Given the description of an element on the screen output the (x, y) to click on. 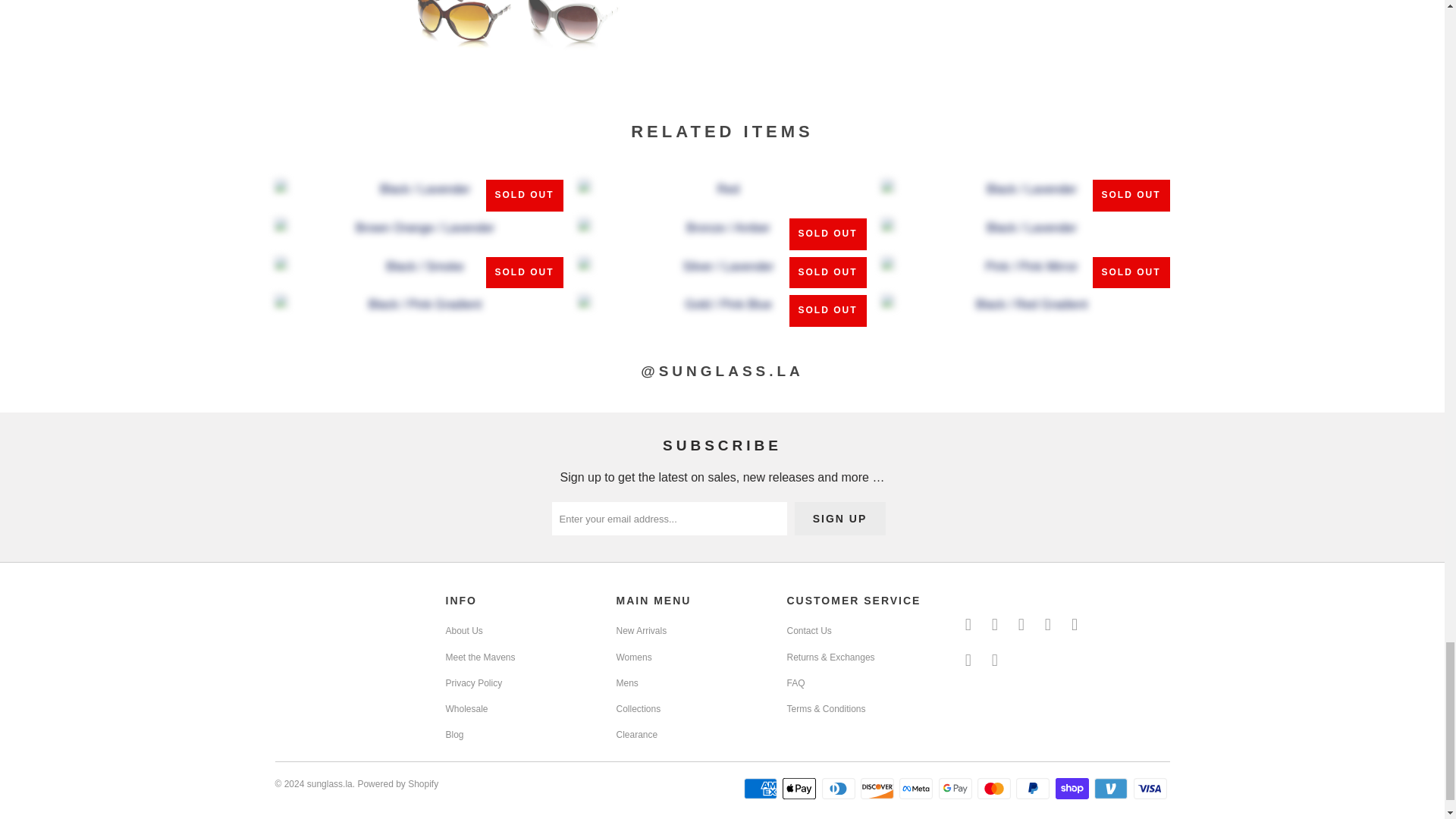
Sign Up (839, 518)
Google Pay (957, 788)
American Express (762, 788)
Shop Pay (1073, 788)
Apple Pay (800, 788)
Venmo (1112, 788)
PayPal (1034, 788)
Meta Pay (917, 788)
Discover (878, 788)
sunglass.la on Facebook (995, 624)
Visa (1150, 788)
Mastercard (994, 788)
sunglass.la on Twitter (967, 624)
Diners Club (840, 788)
